Given the description of an element on the screen output the (x, y) to click on. 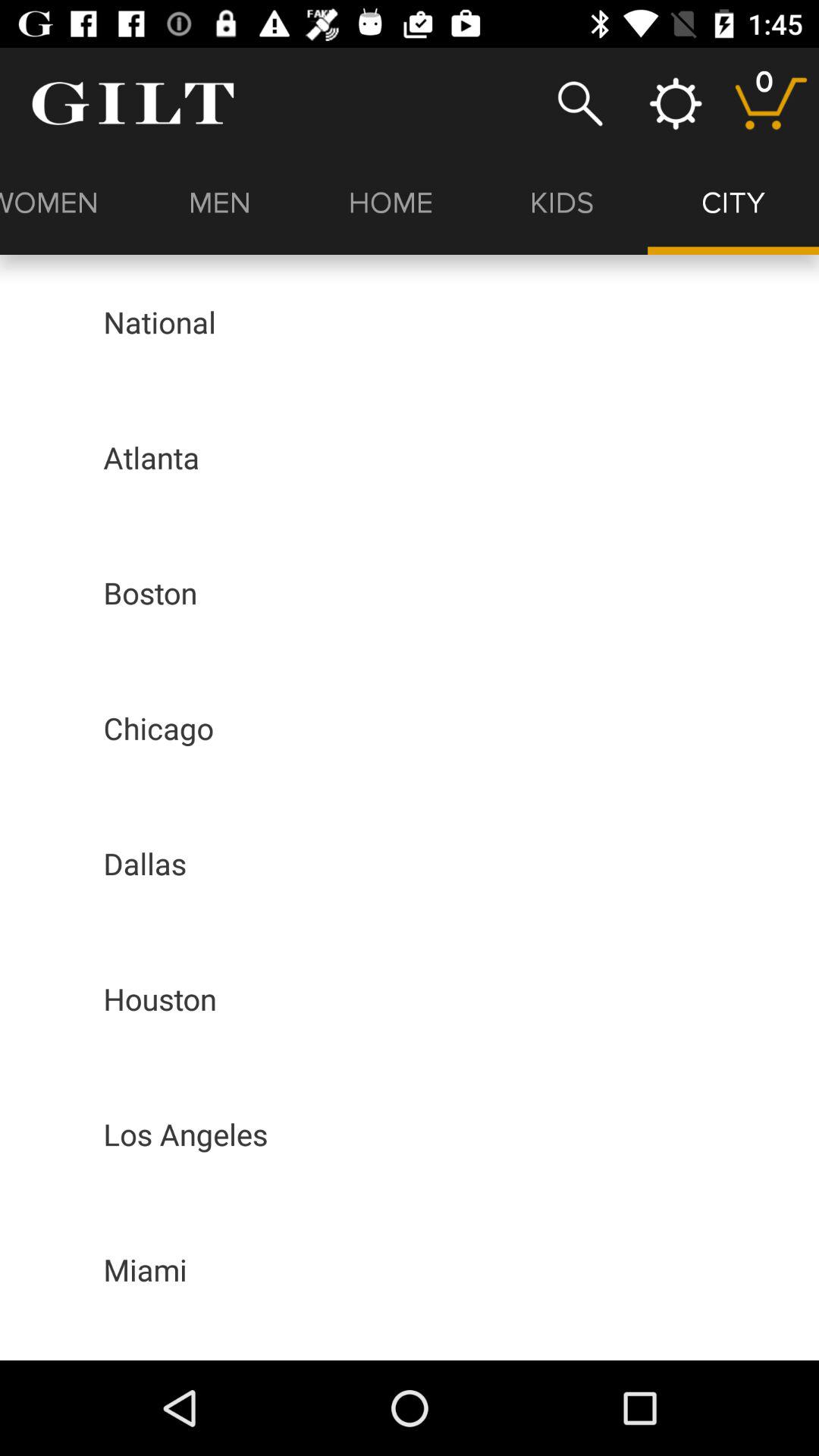
turn off icon below dallas app (159, 998)
